Given the description of an element on the screen output the (x, y) to click on. 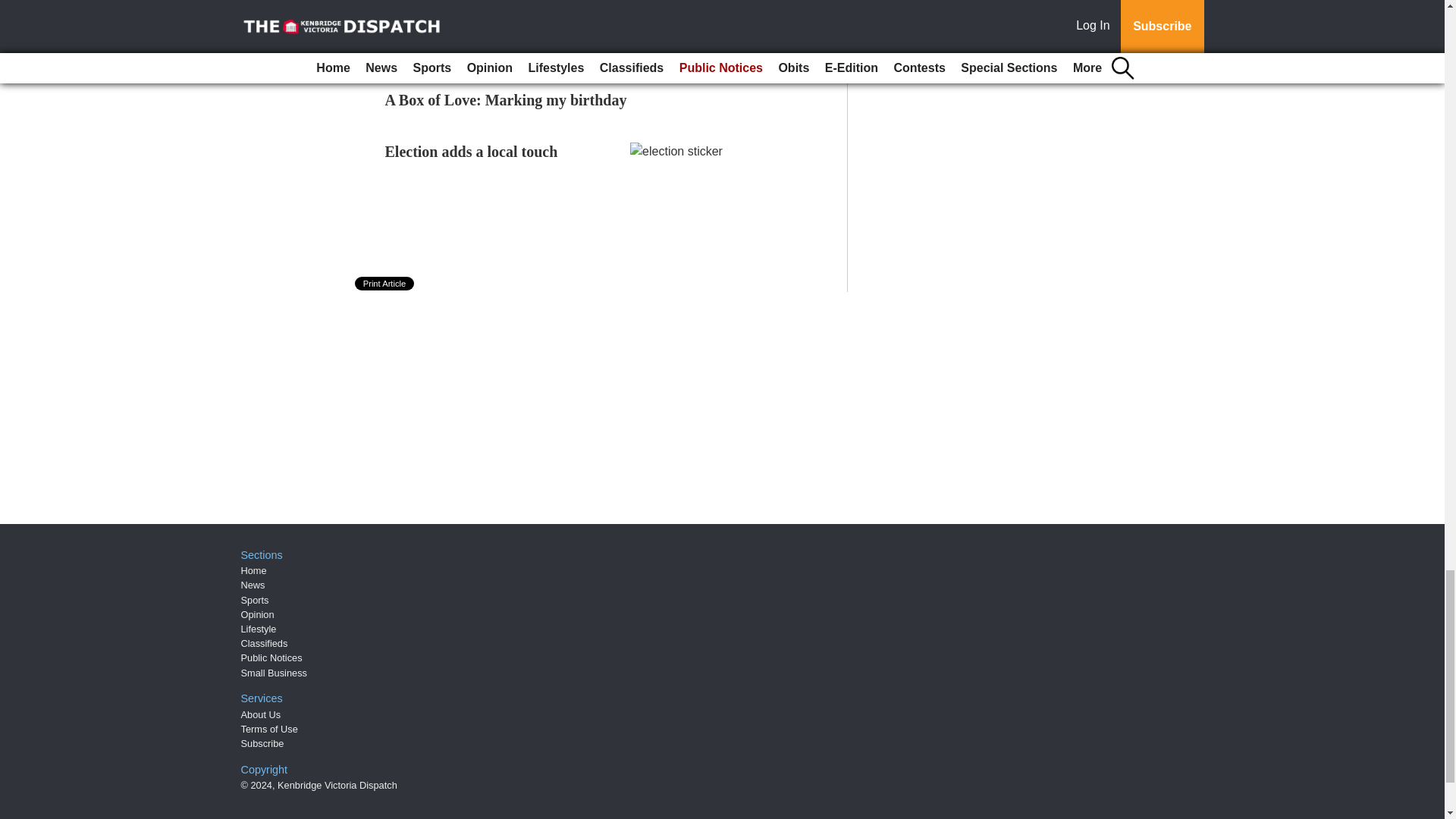
A Box of Love: Marking my birthday (506, 99)
The Word: Bad company corrupts good morals (538, 48)
The Word: Bad company corrupts good morals (538, 48)
A Box of Love: Marking my birthday (506, 99)
Print Article (384, 283)
Election adds a local touch (471, 151)
Election adds a local touch (471, 151)
